Given the description of an element on the screen output the (x, y) to click on. 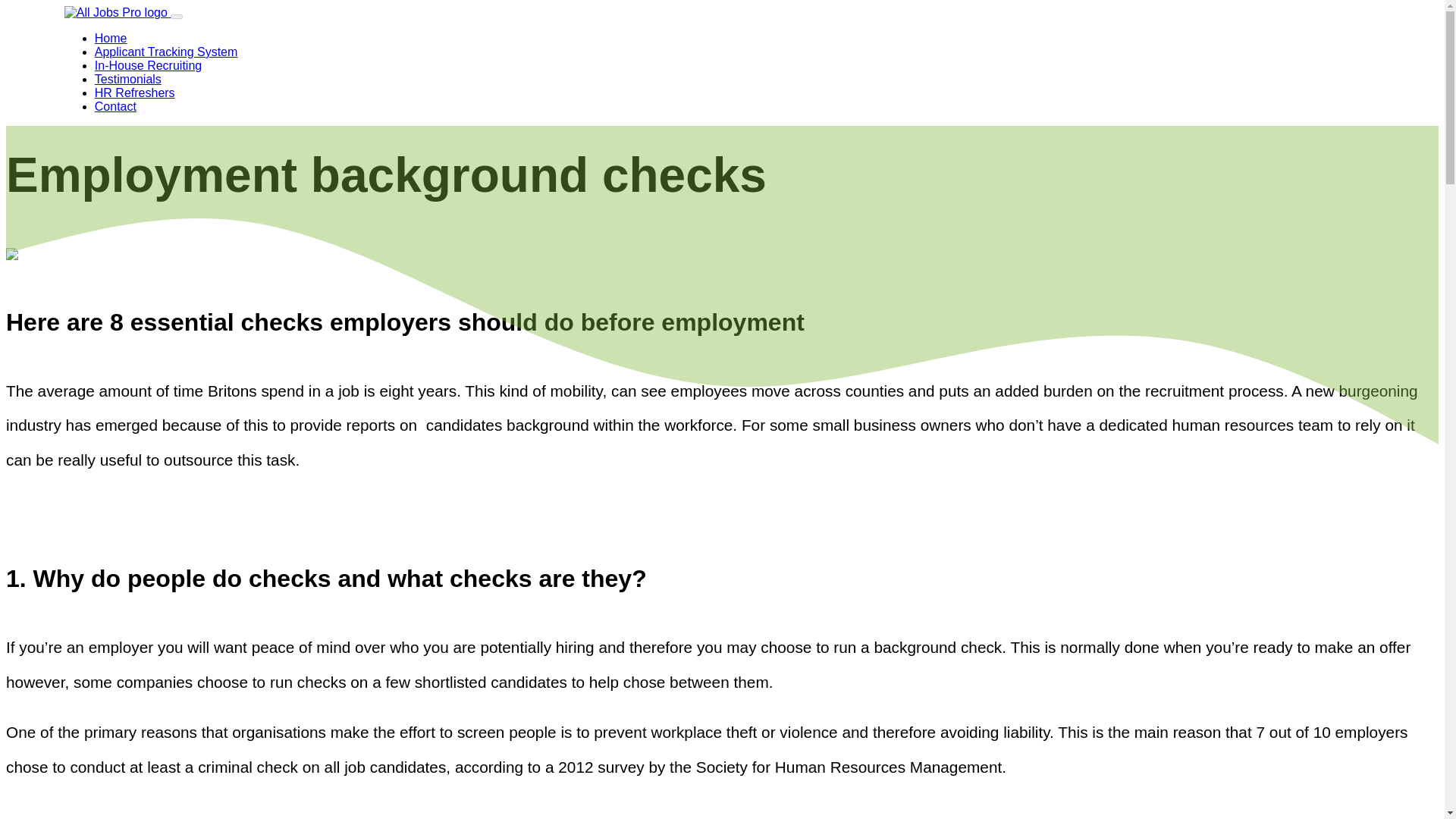
In-House Recruiting (148, 65)
Applicant Tracking System (166, 51)
Home (111, 38)
Contact (115, 106)
Testimonials (127, 78)
HR Refreshers (134, 92)
